Given the description of an element on the screen output the (x, y) to click on. 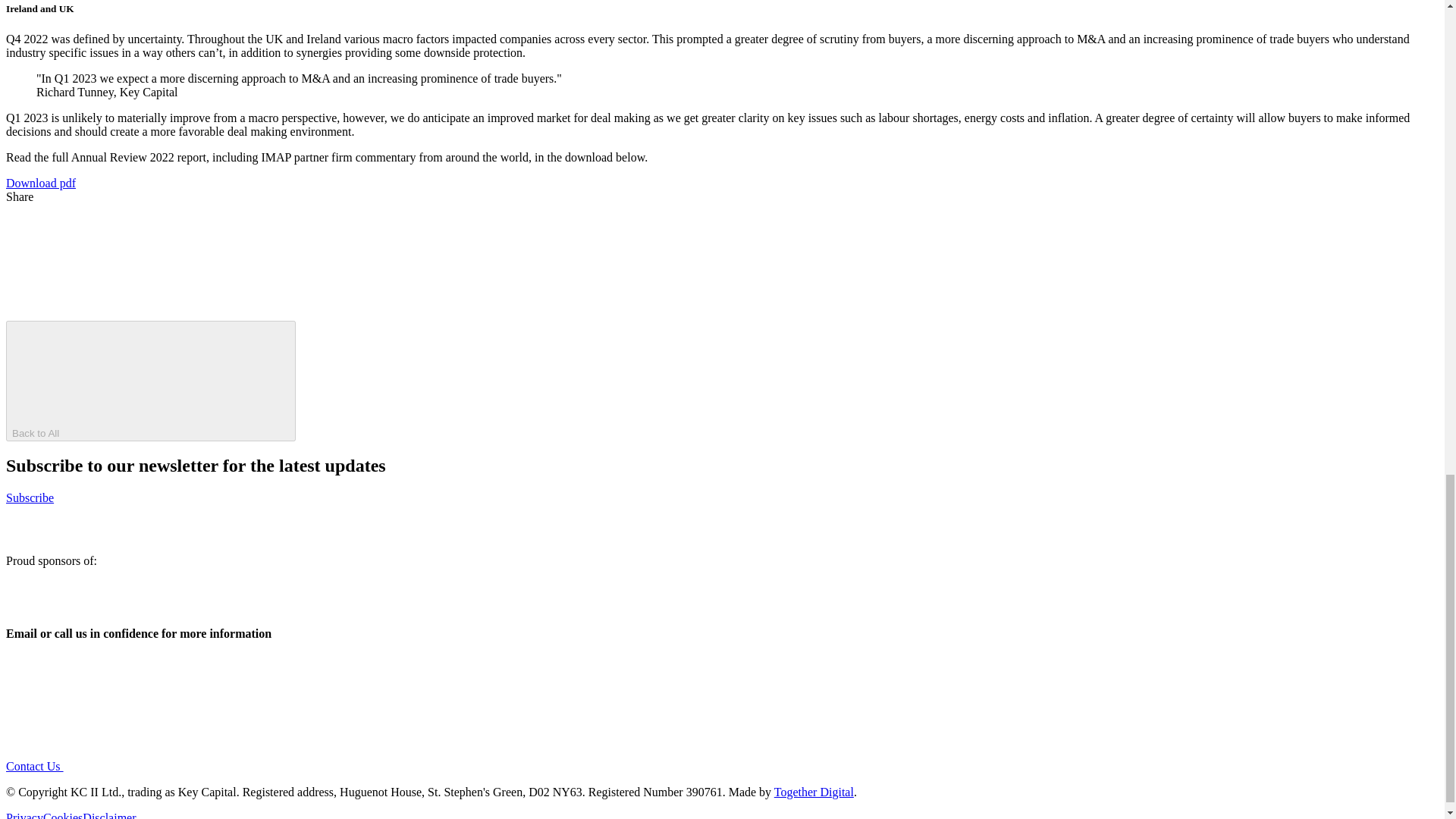
Together Digital (813, 791)
Share on LinkedIn (574, 312)
Contact Us (148, 766)
Share by Email (118, 312)
Share on Twitter (801, 312)
Subscribe (29, 497)
Share on Facebook (346, 312)
Download pdf (40, 182)
Back to All (150, 380)
